Given the description of an element on the screen output the (x, y) to click on. 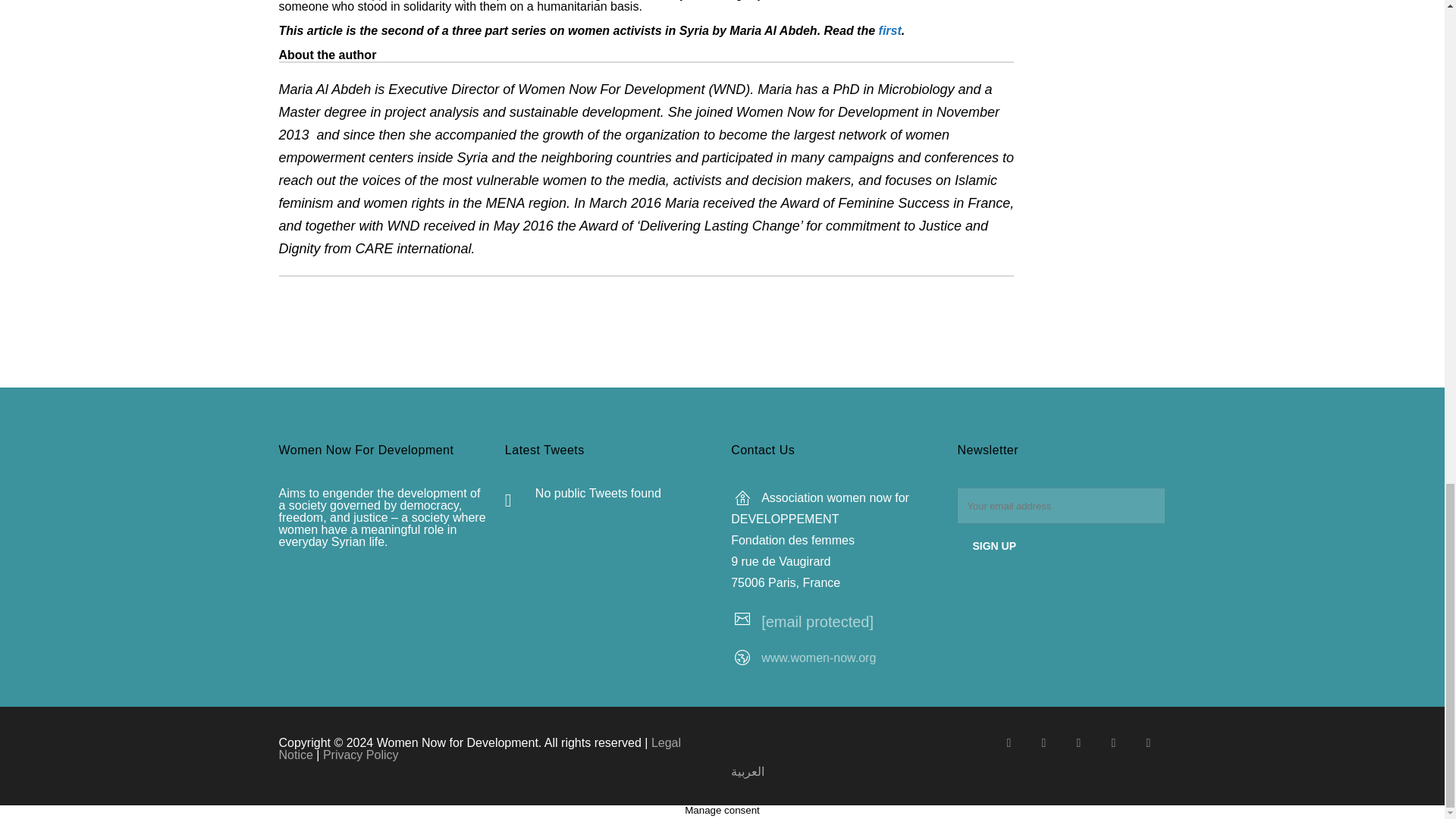
Sign up (993, 545)
Privacy Policy (360, 754)
Facebook (1008, 742)
first (890, 30)
Twitter (1043, 742)
